Given the description of an element on the screen output the (x, y) to click on. 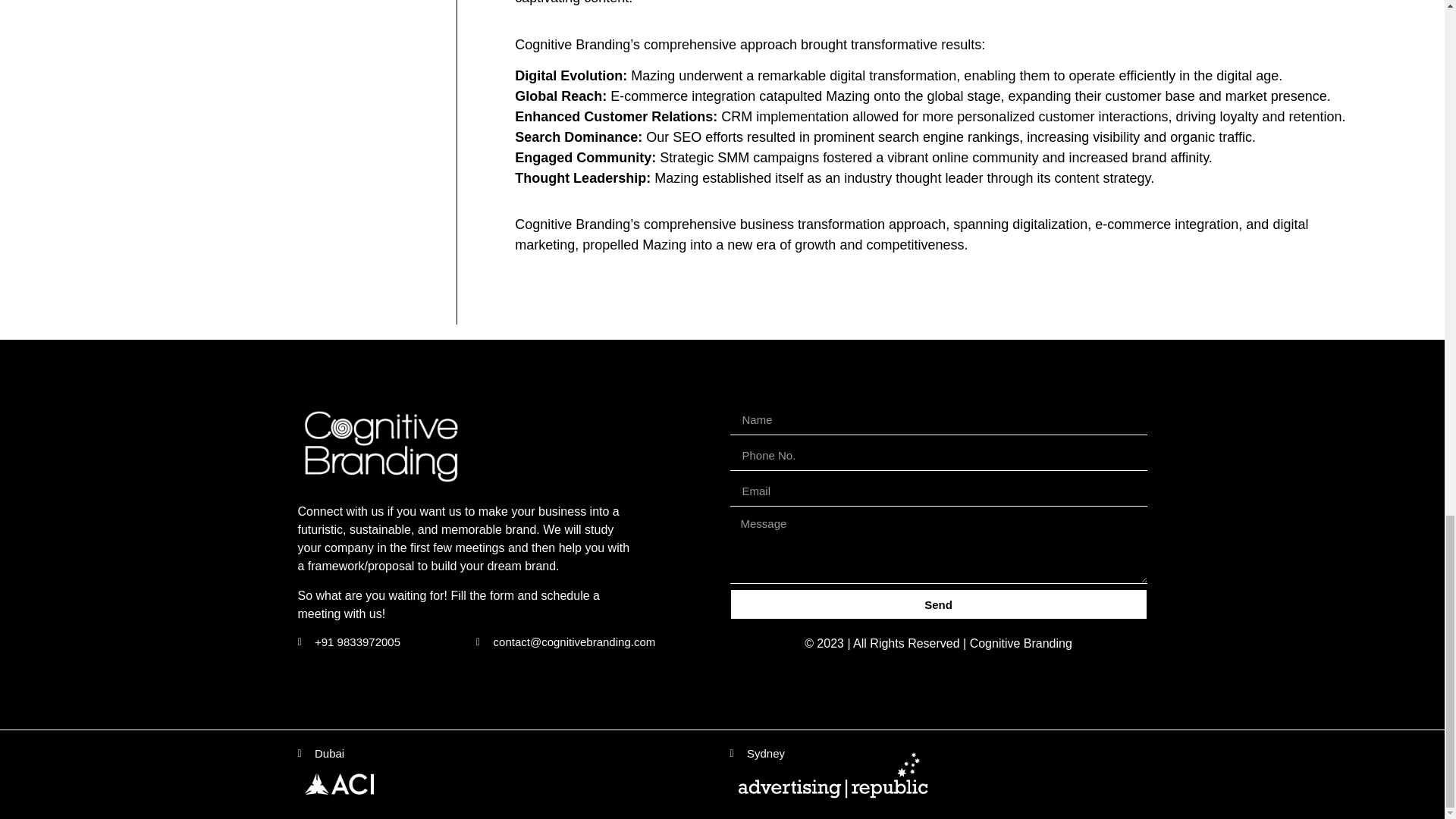
Send (938, 603)
